Given the description of an element on the screen output the (x, y) to click on. 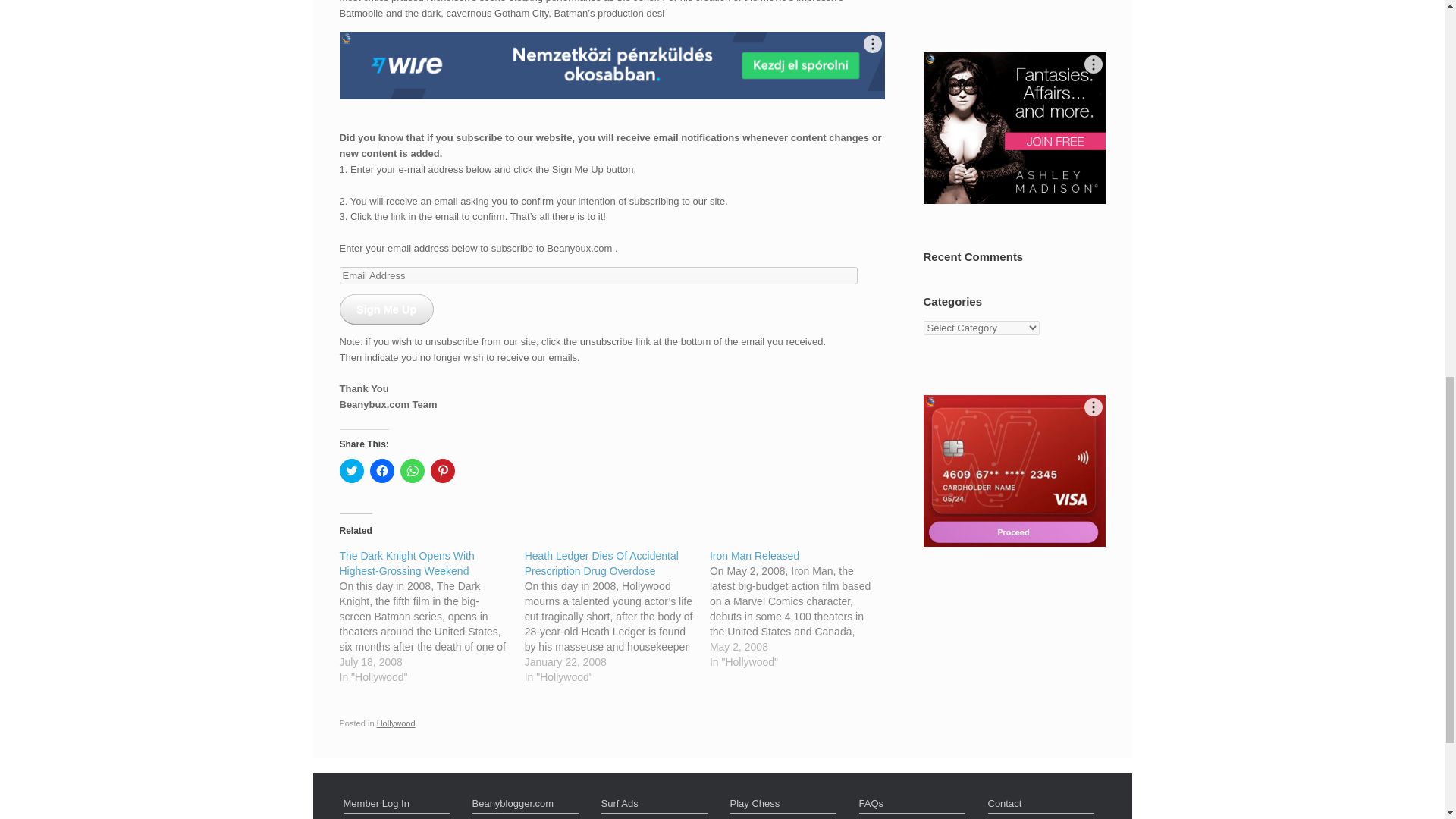
Click to share on WhatsApp (412, 470)
Iron Man Released (754, 555)
Sign Me Up (386, 309)
The Dark Knight Opens With Highest-Grossing Weekend (431, 615)
The Dark Knight Opens With Highest-Grossing Weekend (406, 563)
Click to share on Twitter (351, 470)
Click to share on Pinterest (442, 470)
Iron Man Released (802, 608)
Heath Ledger Dies Of Accidental Prescription Drug Overdose (617, 615)
Heath Ledger Dies Of Accidental Prescription Drug Overdose (601, 563)
Click to share on Facebook (381, 470)
